Given the description of an element on the screen output the (x, y) to click on. 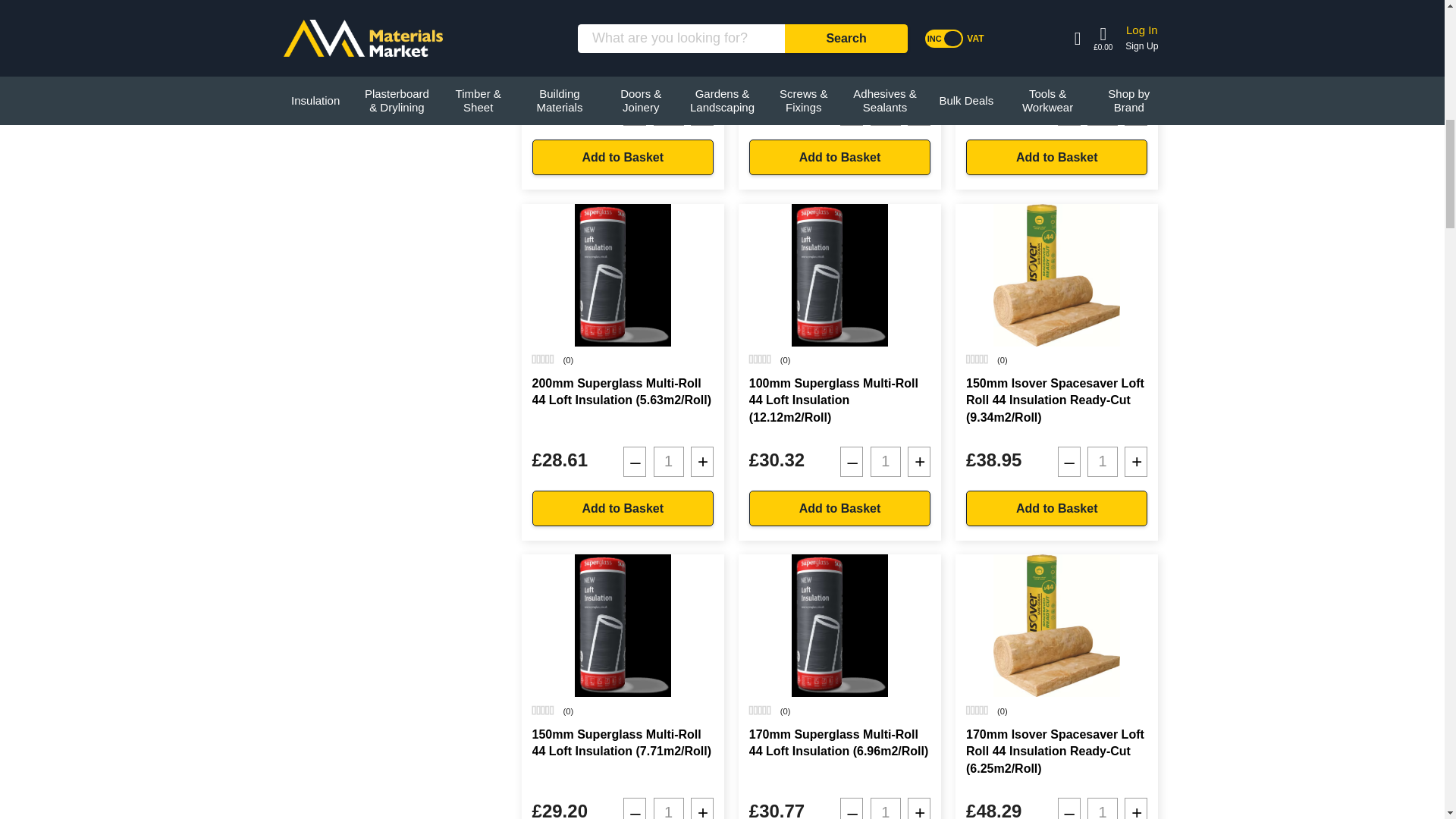
Rating of this product is 5.0 out of 5. (543, 8)
1 (668, 110)
Rating of this product is 0 out of 5. (543, 358)
Qty (668, 808)
1 (885, 461)
Qty (885, 110)
Add to Basket (622, 508)
Add to Basket (622, 157)
Add to Basket (839, 508)
Qty (668, 110)
Rating of this product is 0 out of 5. (977, 358)
Add to Basket (1056, 508)
Rating of this product is 0 out of 5. (543, 710)
Rating of this product is 0 out of 5. (760, 8)
Qty (885, 461)
